Given the description of an element on the screen output the (x, y) to click on. 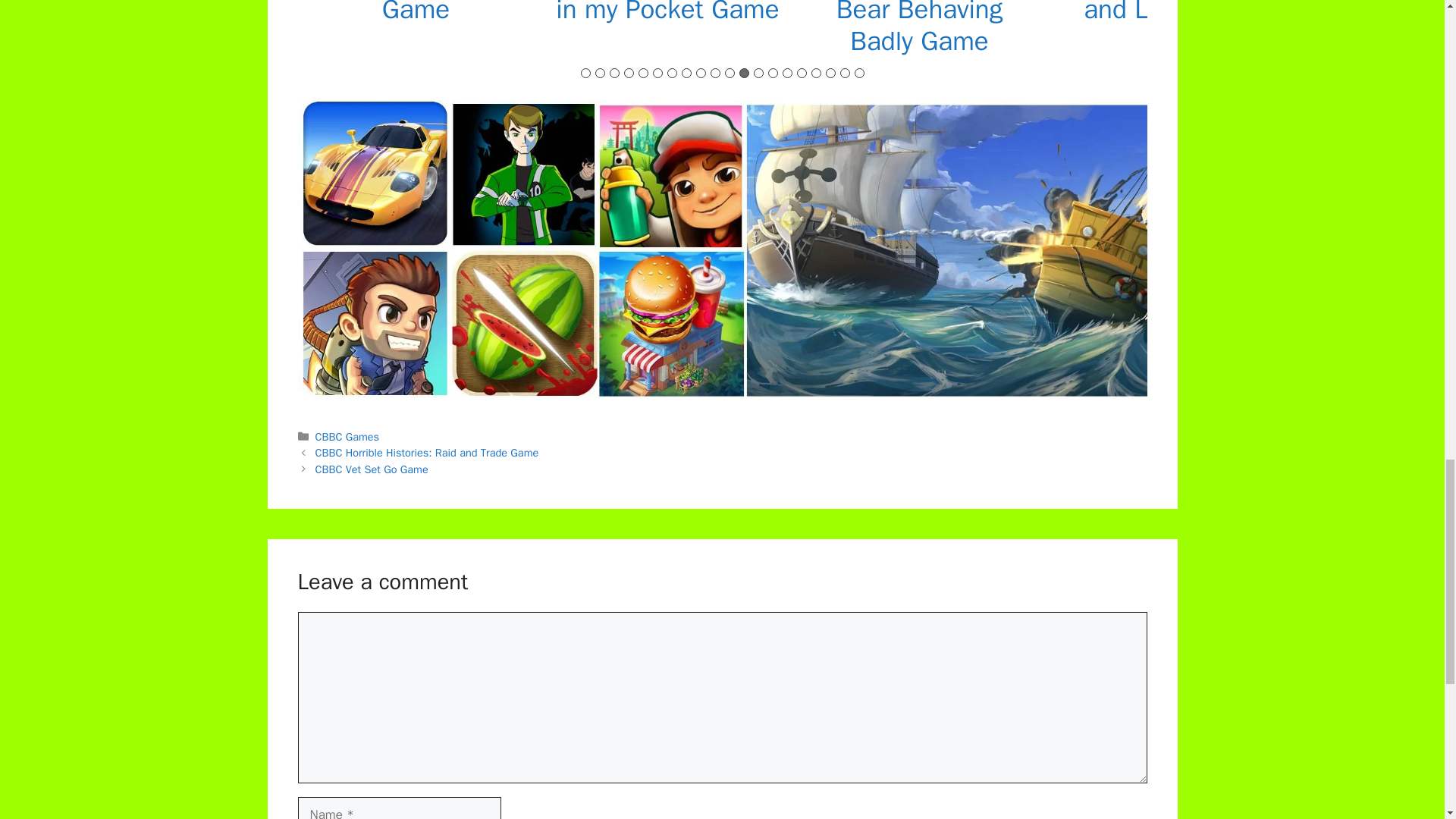
Cbeebies Charlie and Lola Game (1171, 12)
CBBC Bear Pairs Bear Behaving Badly Game (918, 28)
Cbeebies Grandpa in my Pocket Game (667, 12)
Cbeebies Telly tales Game (415, 12)
